Given the description of an element on the screen output the (x, y) to click on. 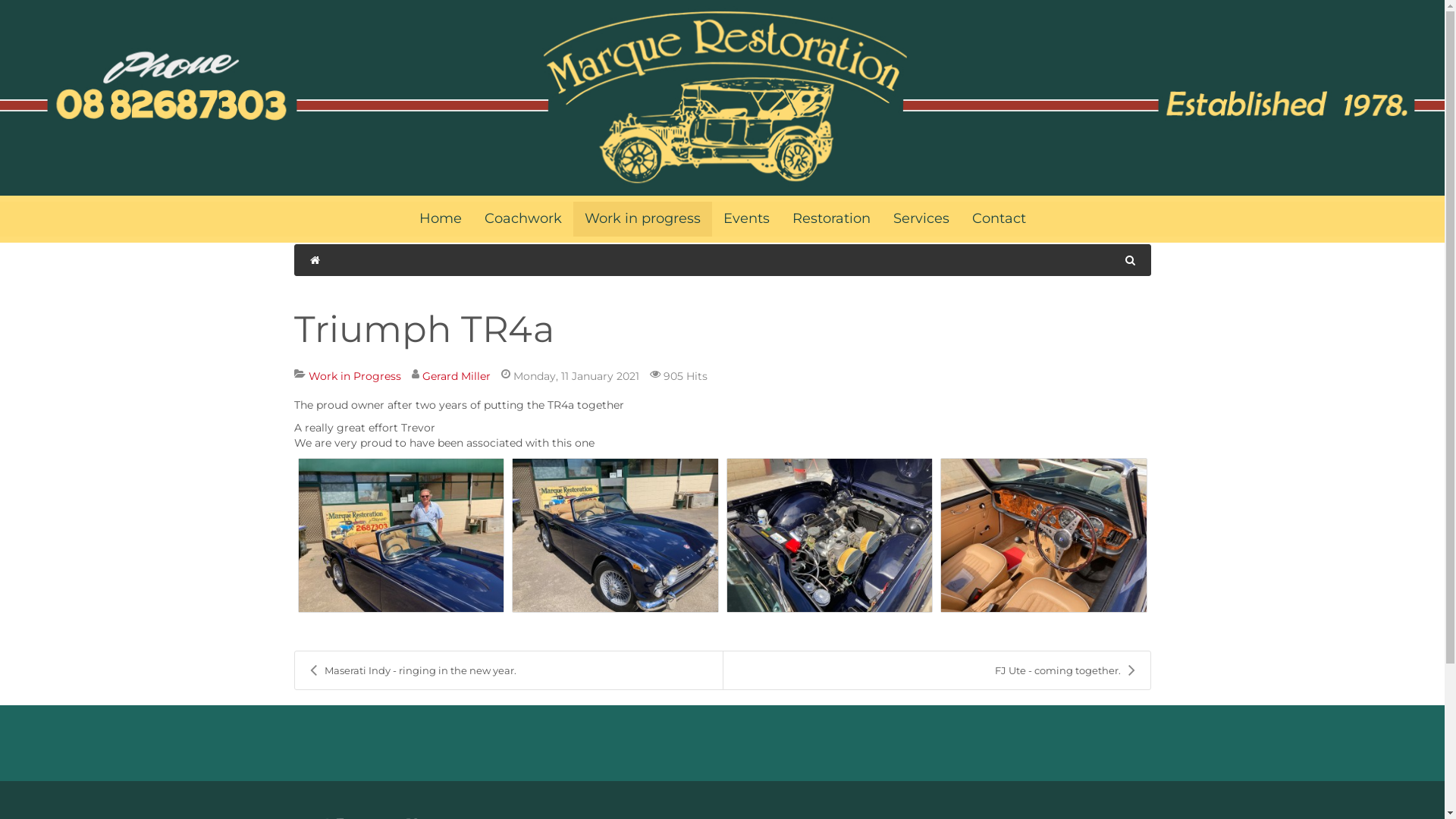
Maserati Indy - ringing in the new year. Element type: text (507, 670)
Home Element type: text (440, 218)
Restoration Element type: text (831, 218)
Contact Element type: text (998, 218)
Marque Restoration Adelaide South Australia Element type: hover (722, 97)
Gerard Miller Element type: text (455, 375)
Events Element type: text (745, 218)
FJ Ute - coming together. Element type: text (936, 670)
Coachwork Element type: text (523, 218)
Work in progress Element type: text (642, 218)
Work in Progress Element type: text (353, 375)
Services Element type: text (920, 218)
